Given the description of an element on the screen output the (x, y) to click on. 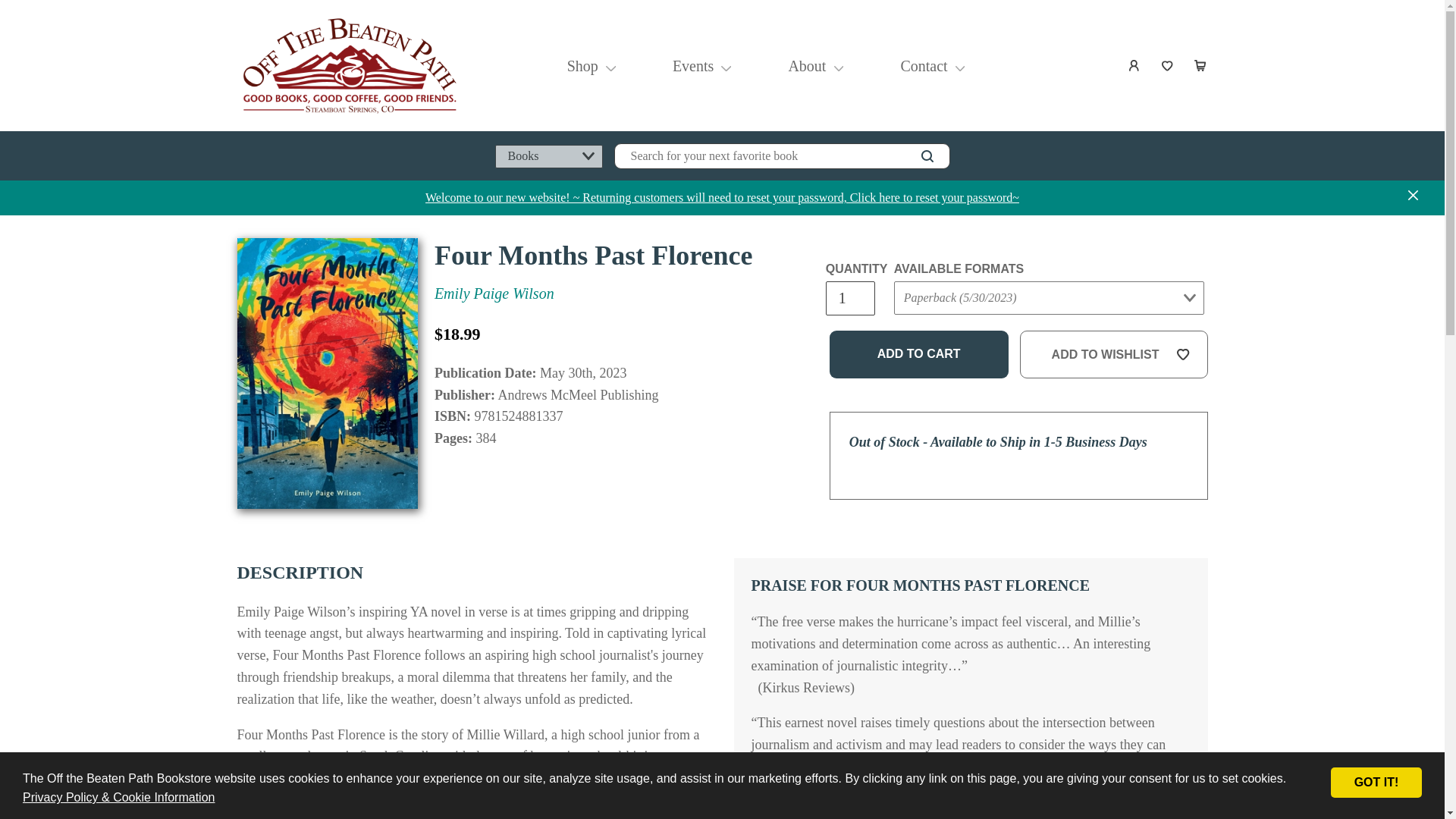
Log in (1134, 65)
Shop (582, 65)
EVENTS SUB-NAVIGATION (725, 65)
Submit (922, 328)
Wishlists (1168, 65)
ABOUT SUB-NAVIGATION (839, 65)
Log in (1134, 65)
Add to cart (919, 354)
SHOP SUB-NAVIGATION (610, 65)
Emily Paige Wilson (493, 293)
Add to cart (919, 354)
Events (692, 65)
1 (850, 298)
Cart (1201, 65)
